Given the description of an element on the screen output the (x, y) to click on. 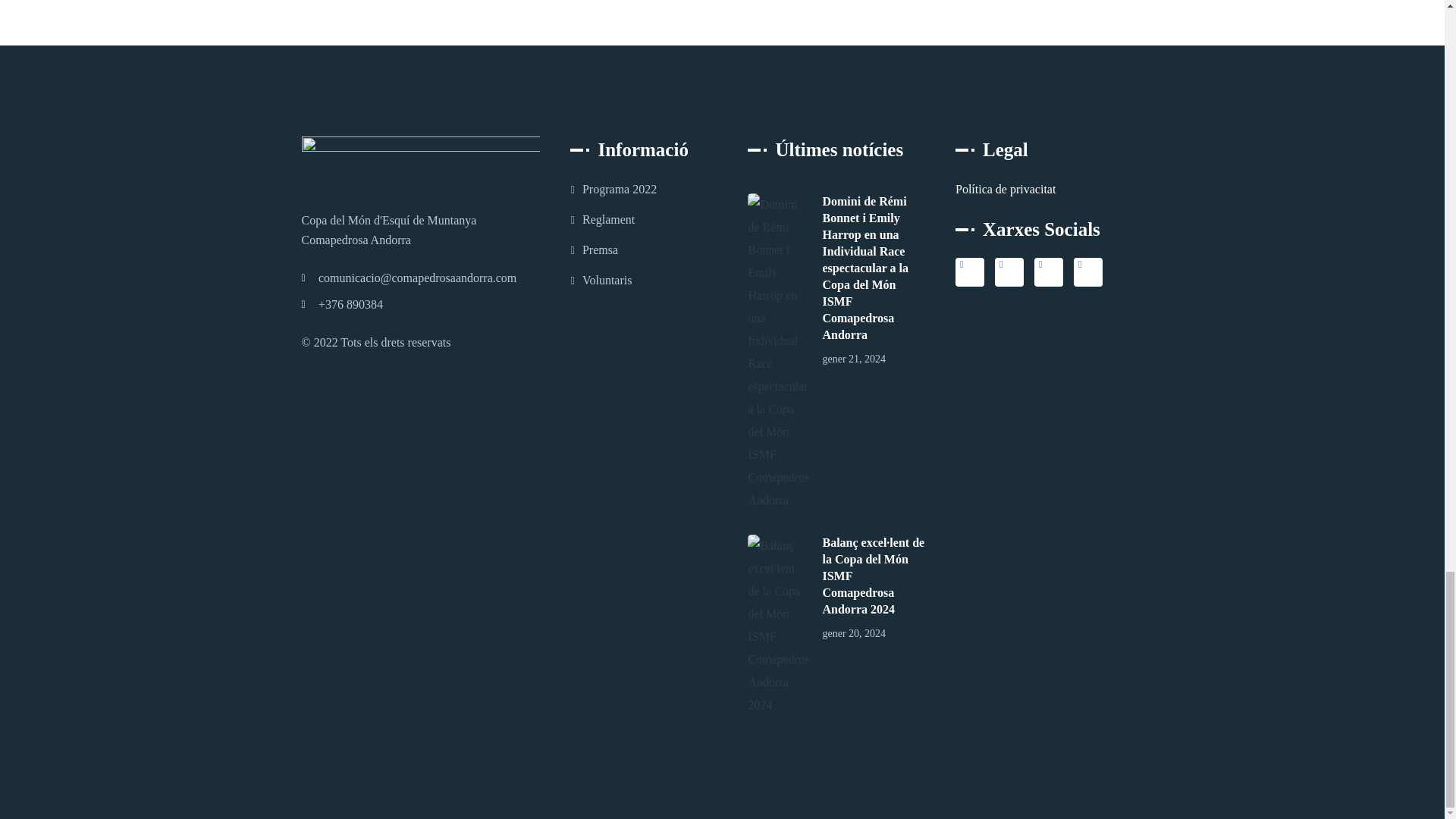
Facebook (1008, 271)
Twitter (969, 271)
Instagram (1088, 271)
LinkedIn (1047, 271)
